Given the description of an element on the screen output the (x, y) to click on. 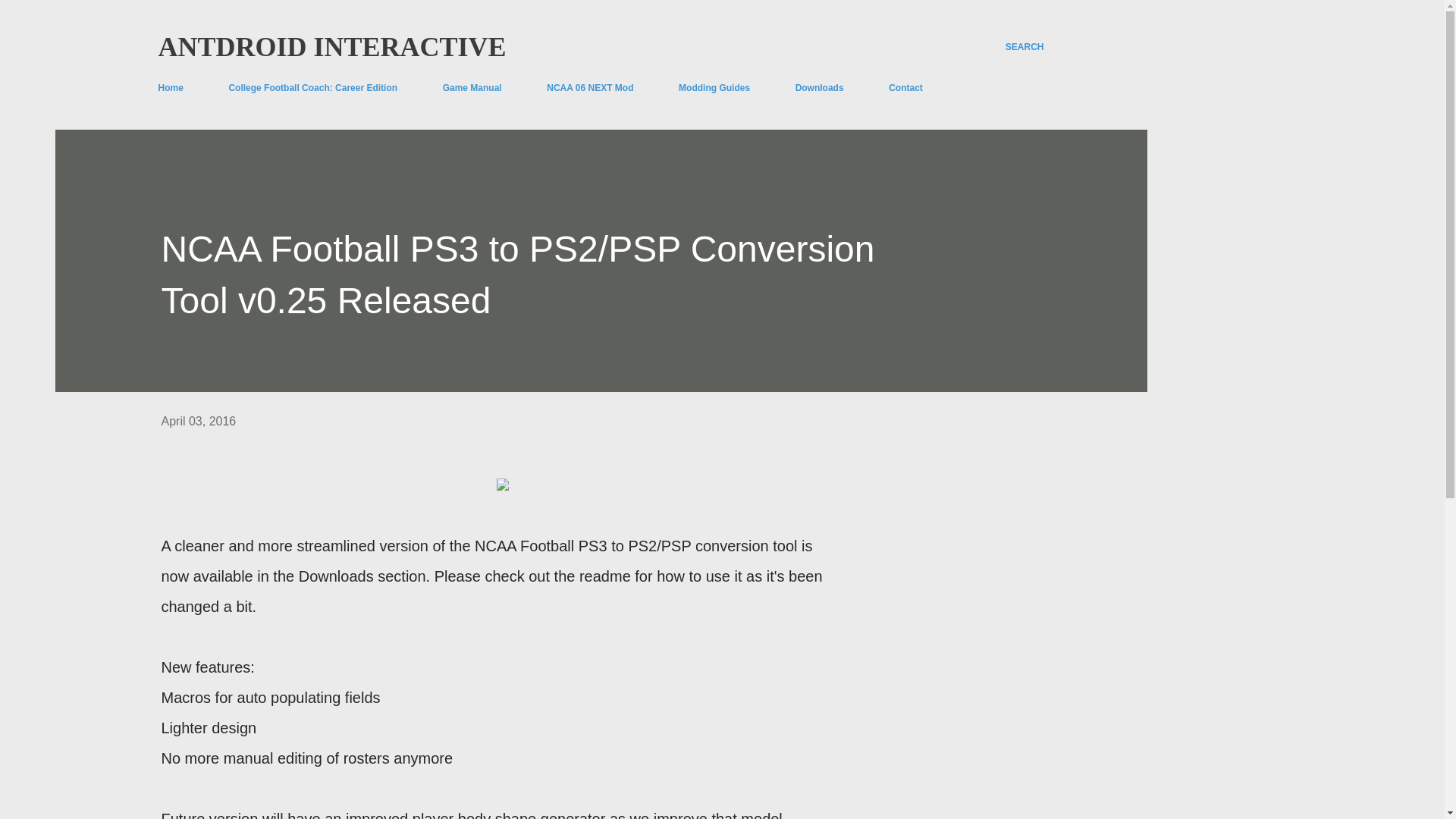
Downloads (819, 87)
Game Manual (472, 87)
April 03, 2016 (197, 420)
NCAA 06 NEXT Mod (589, 87)
College Football Coach: Career Edition (312, 87)
permanent link (197, 420)
Home (174, 87)
Contact (905, 87)
SEARCH (1024, 46)
ANTDROID INTERACTIVE (331, 46)
Modding Guides (713, 87)
